Given the description of an element on the screen output the (x, y) to click on. 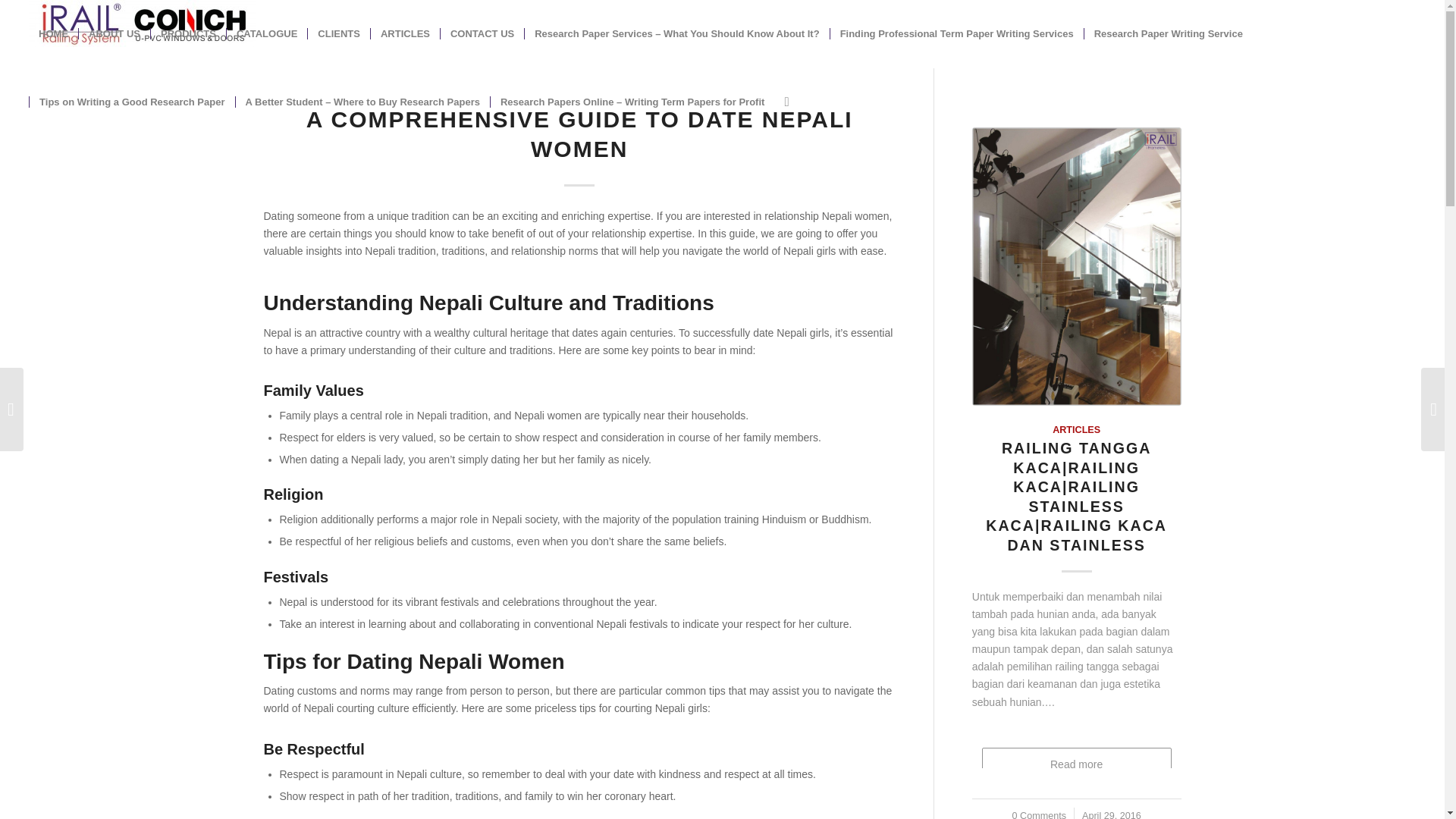
ABOUT US (113, 33)
CATALOGUE (266, 33)
PRODUCTS (187, 33)
ARTICLES (404, 33)
Permanent Link: A Comprehensive Guide To Date Nepali Women (579, 134)
CLIENTS (338, 33)
